Given the description of an element on the screen output the (x, y) to click on. 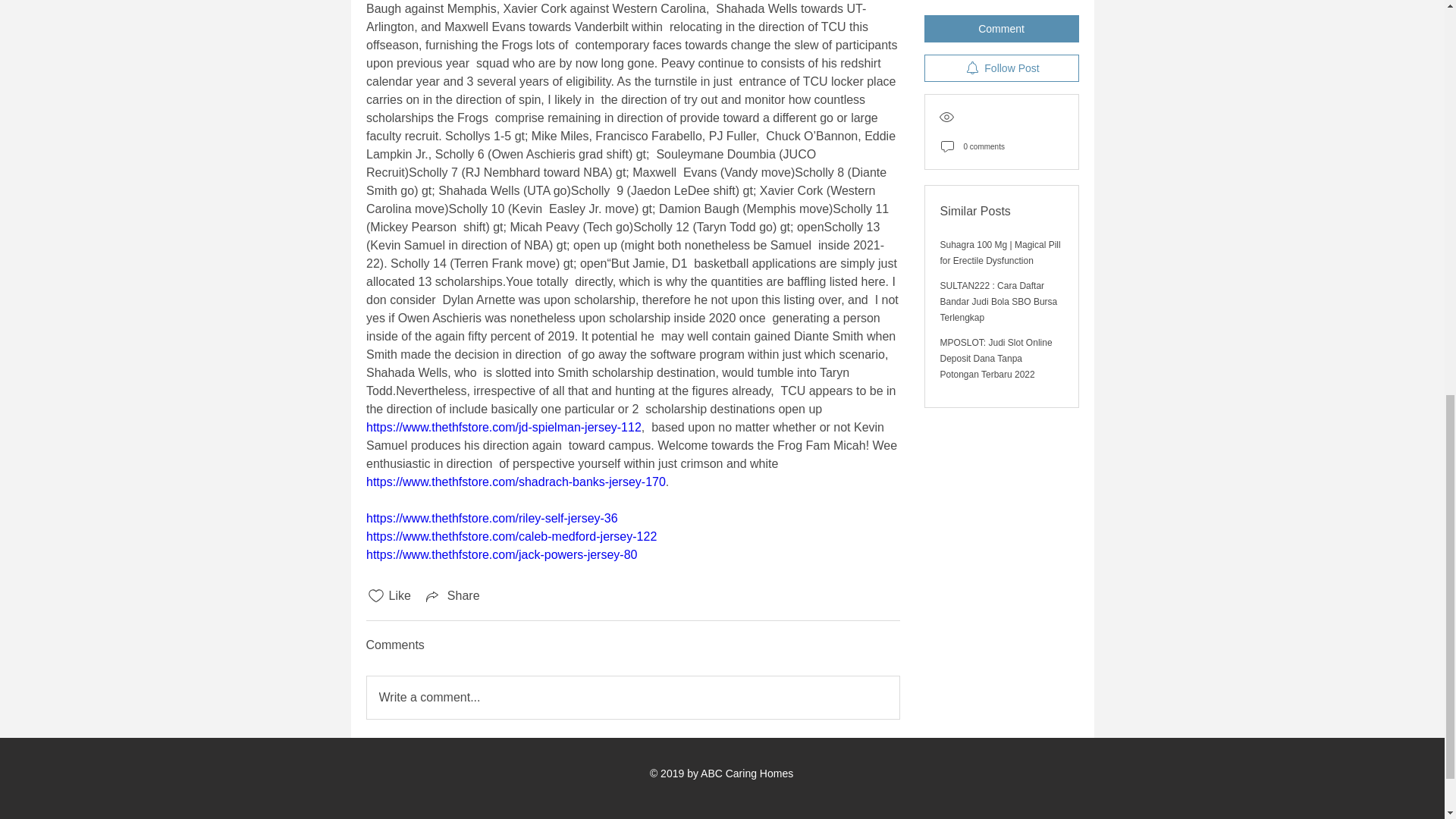
Share (451, 596)
Write a comment... (632, 697)
